Given the description of an element on the screen output the (x, y) to click on. 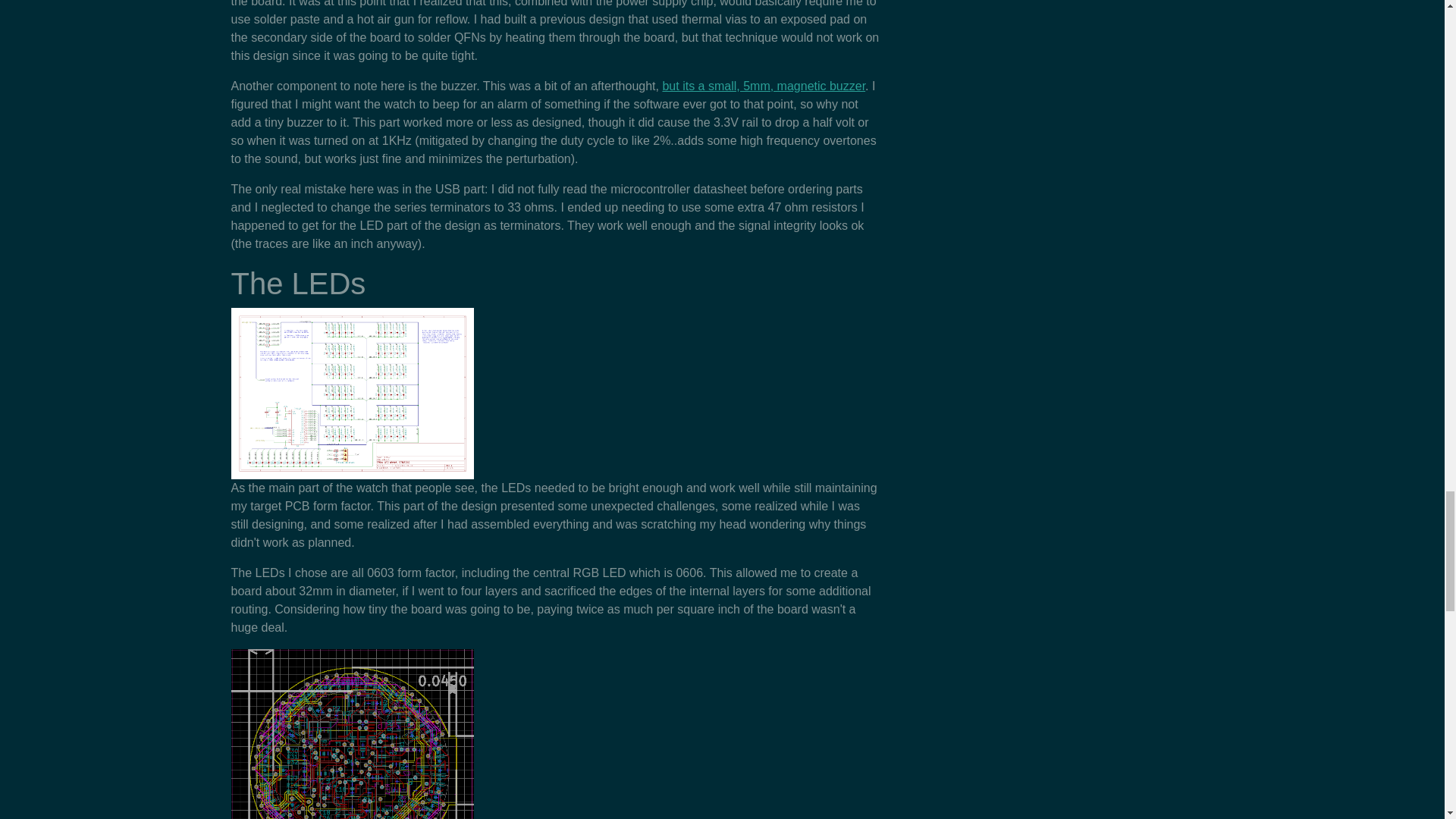
but its a small, 5mm, magnetic buzzer (763, 85)
